Given the description of an element on the screen output the (x, y) to click on. 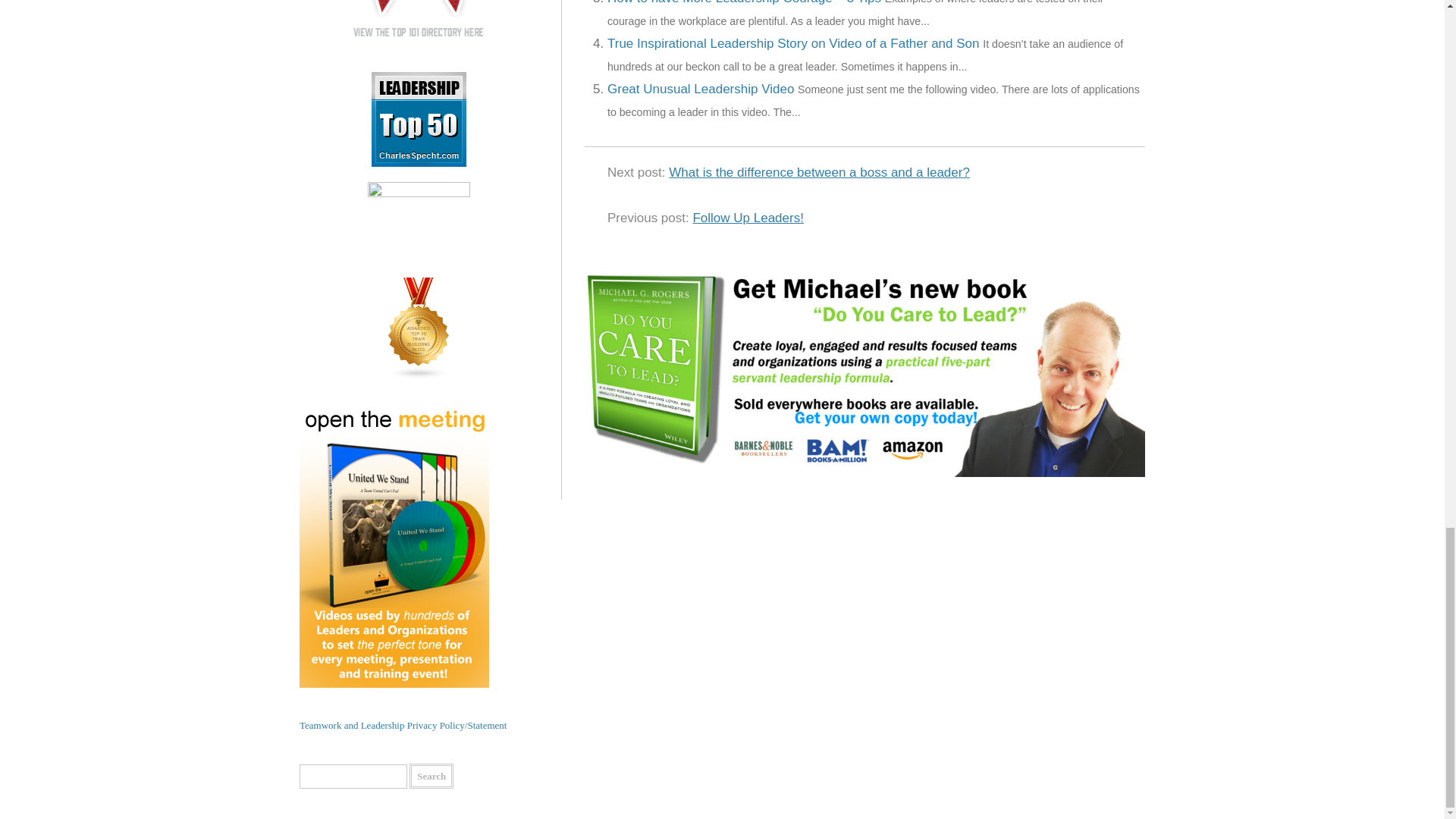
Search (430, 775)
Great Unusual Leadership Video (700, 88)
